Given the description of an element on the screen output the (x, y) to click on. 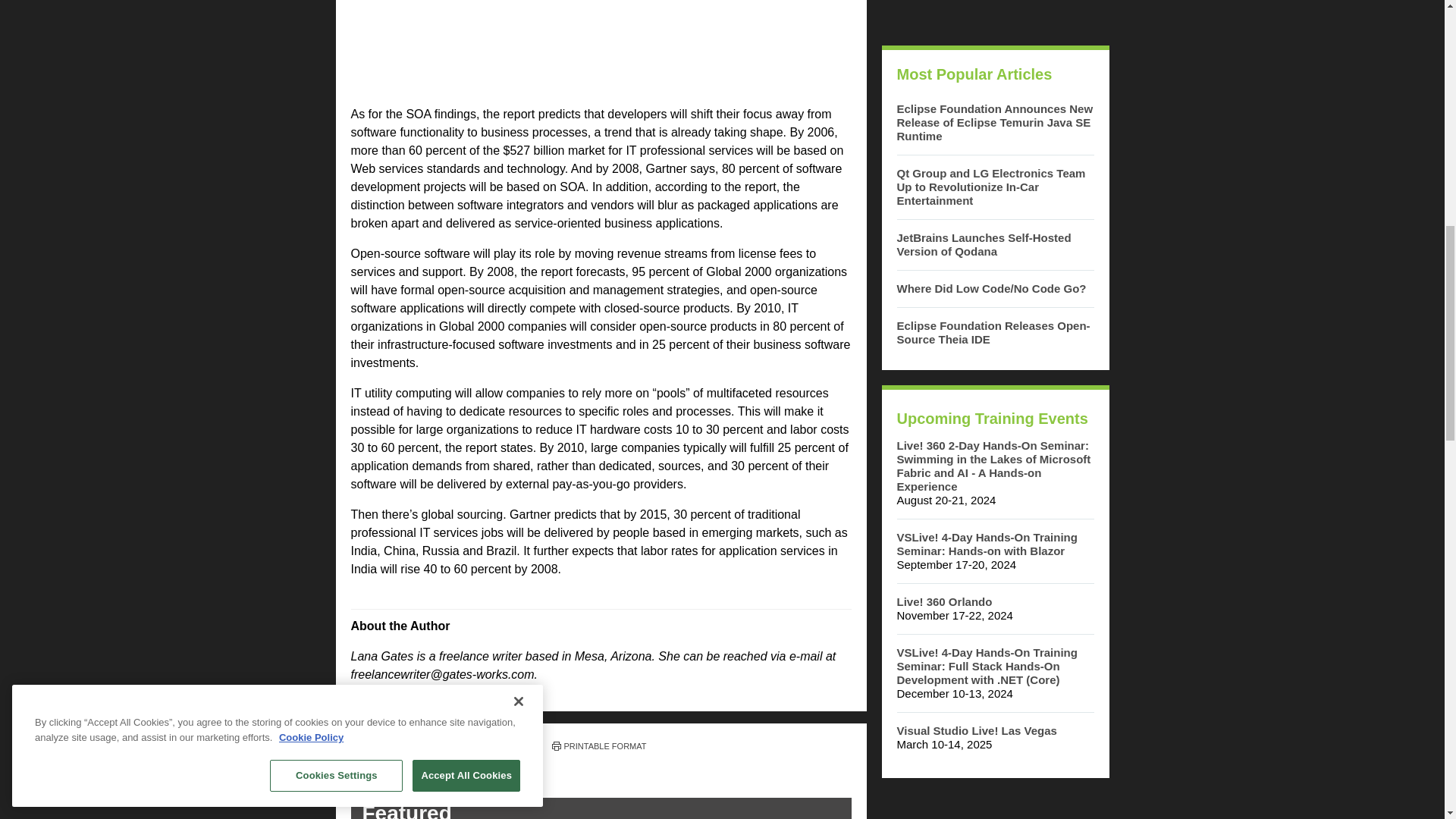
3rd party ad content (994, 806)
PRINTABLE FORMAT (598, 746)
3rd party ad content (600, 46)
3rd party ad content (994, 15)
